Given the description of an element on the screen output the (x, y) to click on. 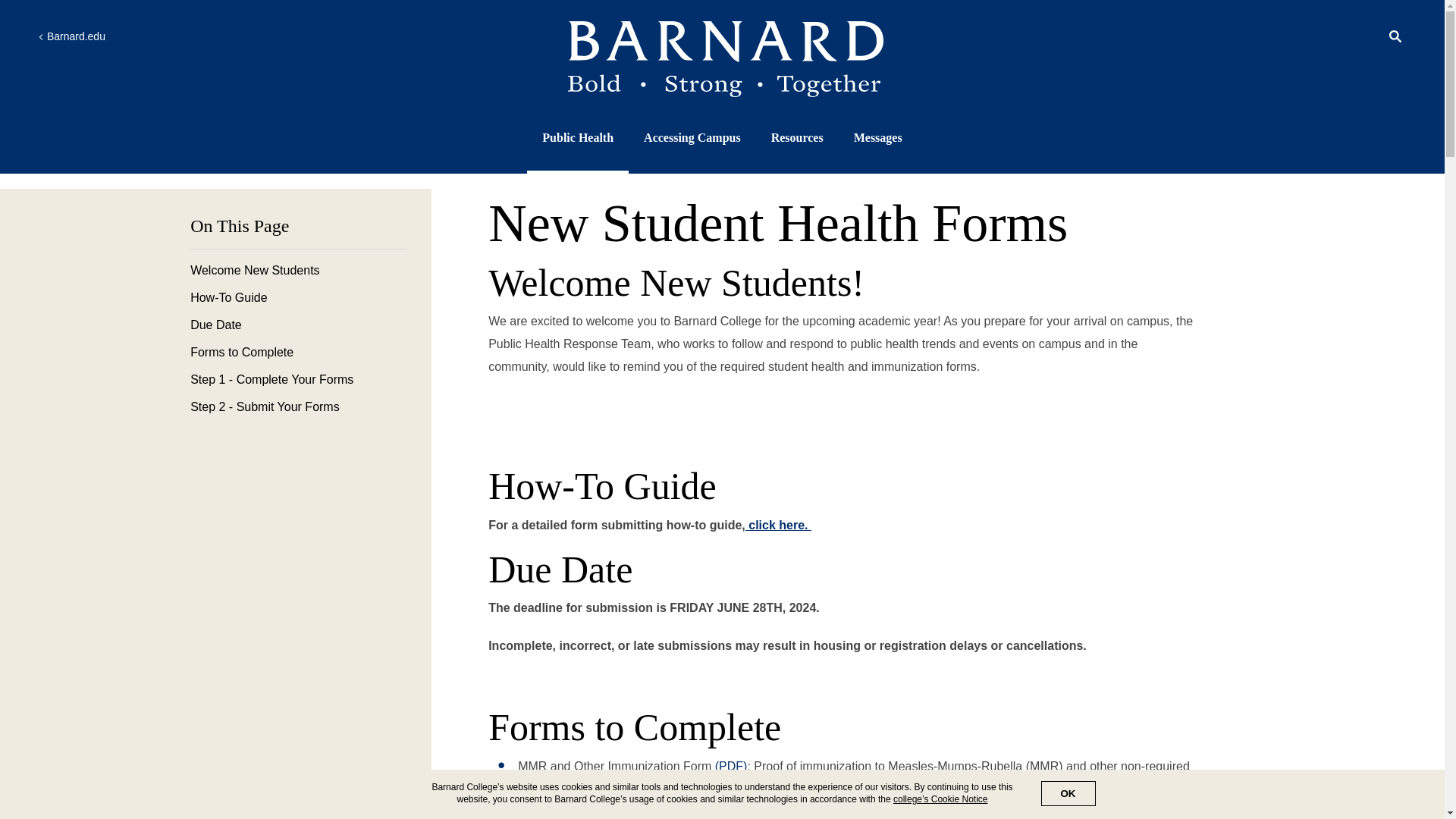
Resources (797, 137)
Due Date (298, 325)
Messages (877, 137)
How-To Guide (298, 298)
Public Health (576, 137)
Step 2 - Submit Your Forms (298, 406)
Forms to Complete (298, 352)
Left arrow Barnard.edu (70, 36)
Left arrow (40, 37)
